Given the description of an element on the screen output the (x, y) to click on. 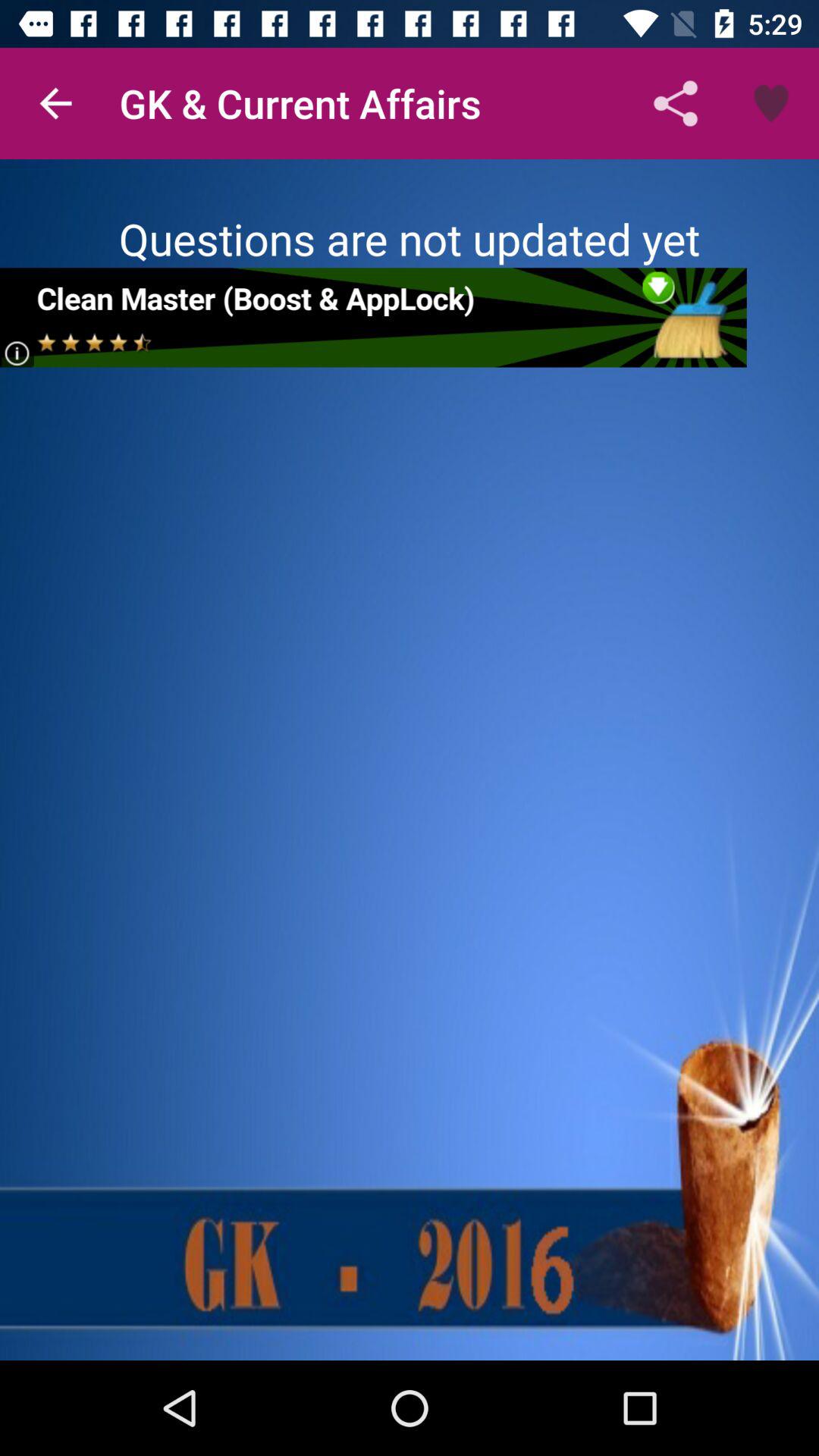
advertisement banner (373, 317)
